Given the description of an element on the screen output the (x, y) to click on. 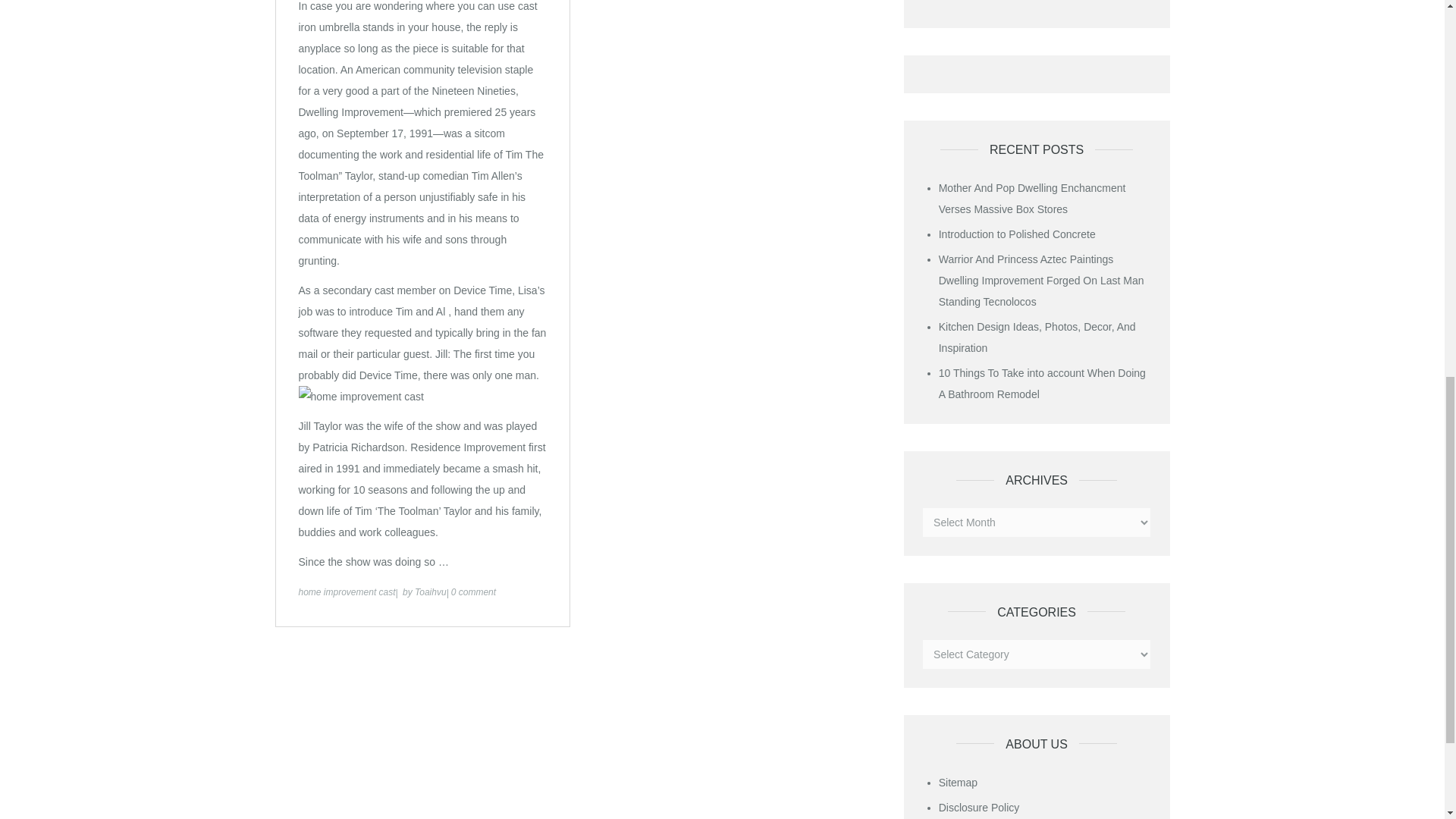
0 comment (473, 592)
Toaihvu (430, 592)
home improvement cast (347, 592)
